Given the description of an element on the screen output the (x, y) to click on. 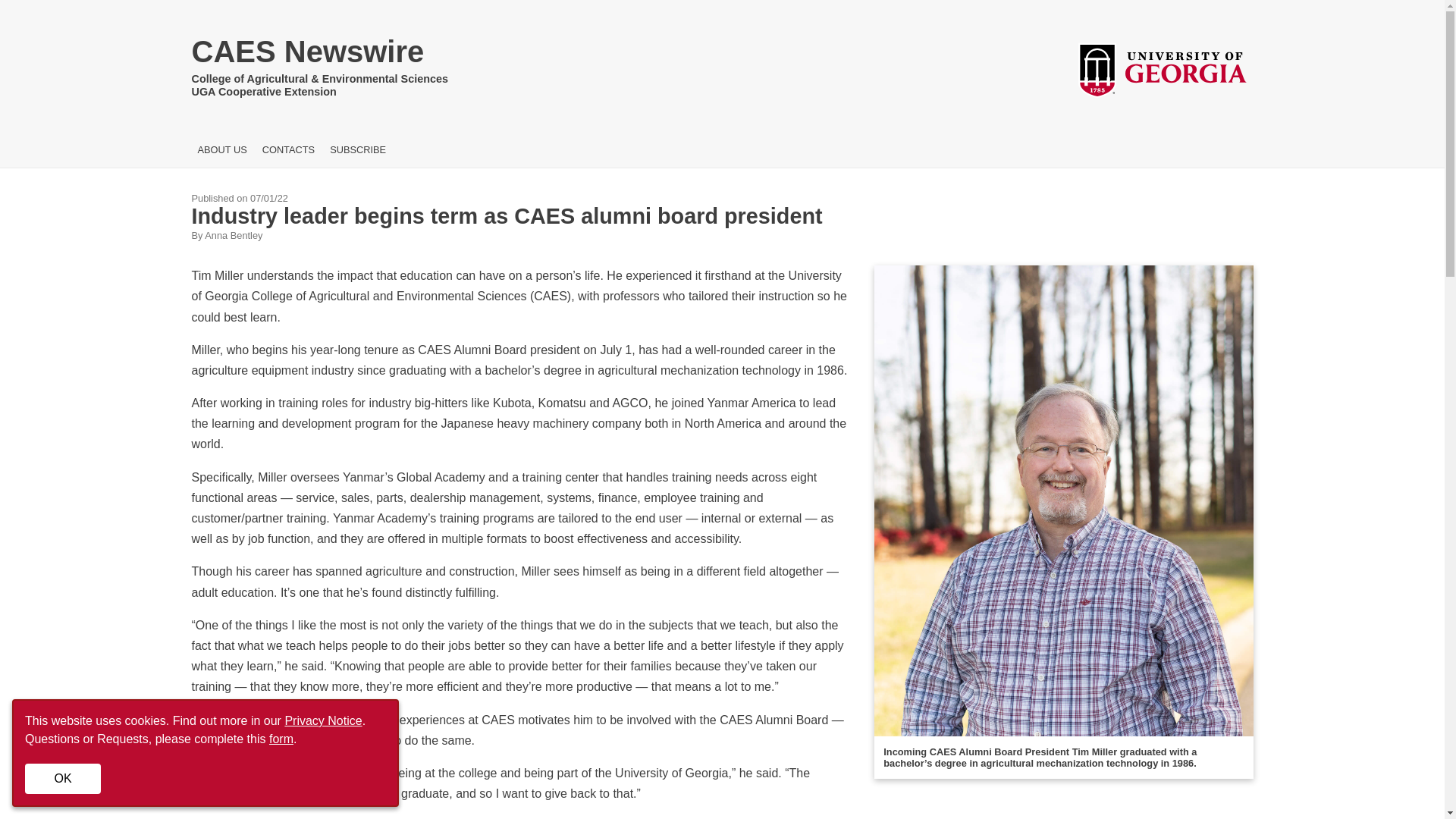
SUBSCRIBE (357, 149)
CONTACTS (288, 149)
Privacy Notice (322, 720)
form (281, 738)
CAES Newswire (319, 54)
ABOUT US (221, 149)
UGA Cooperative Extension (319, 91)
OK (62, 778)
